Given the description of an element on the screen output the (x, y) to click on. 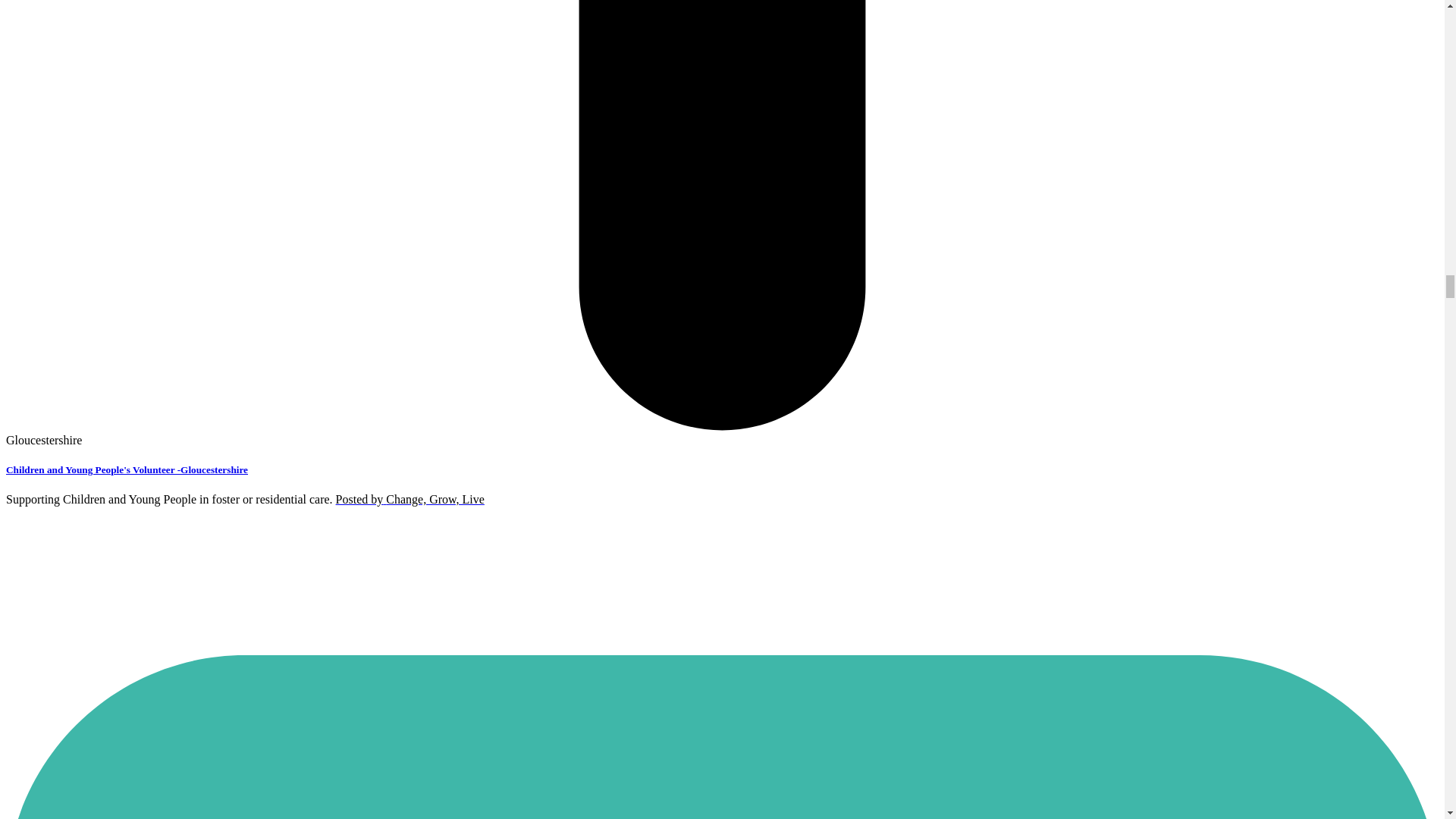
Posted by Change, Grow, Live (410, 499)
